Given the description of an element on the screen output the (x, y) to click on. 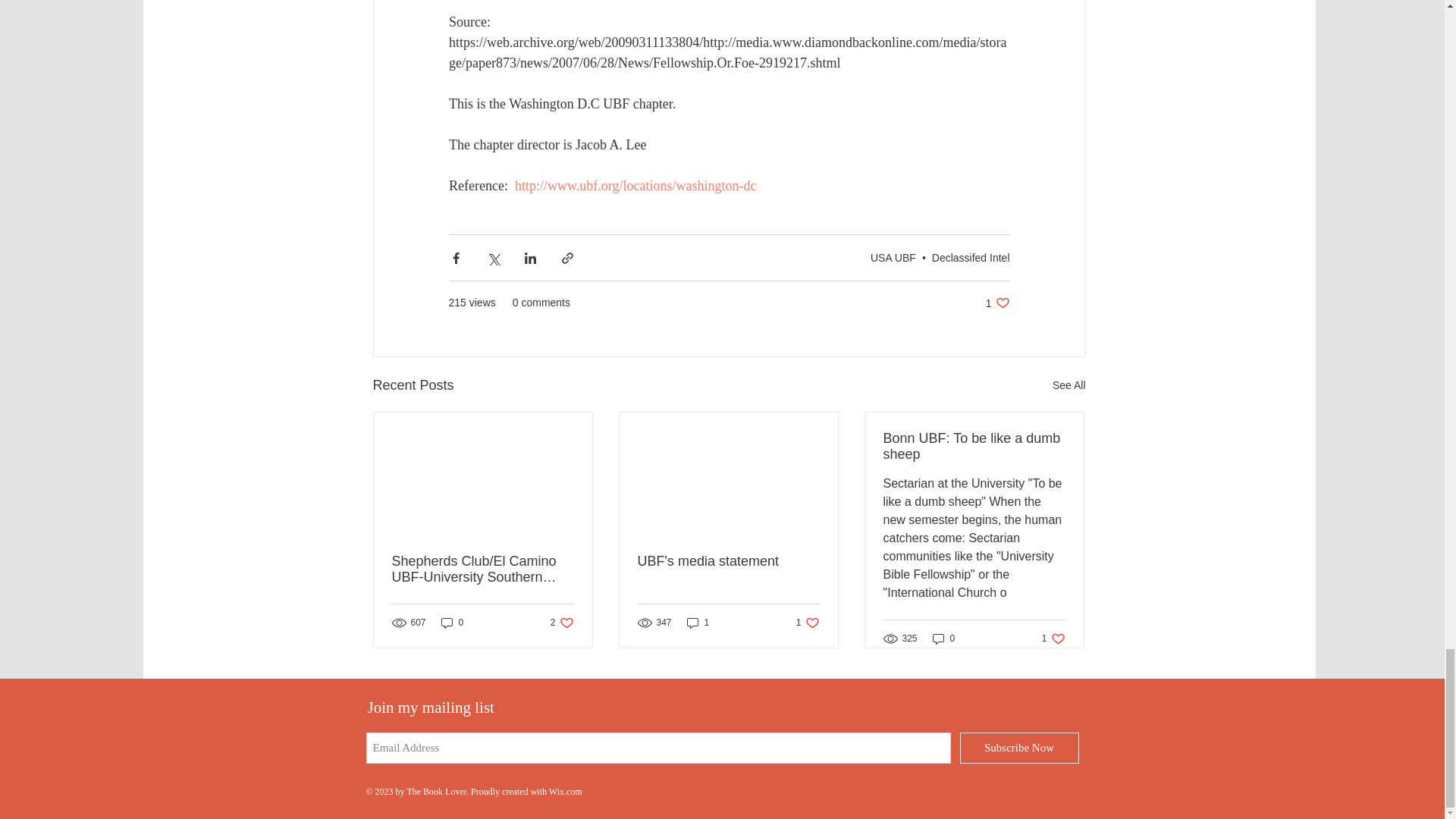
USA UBF (892, 257)
0 (452, 622)
See All (1069, 385)
Declassifed Intel (970, 257)
